Given the description of an element on the screen output the (x, y) to click on. 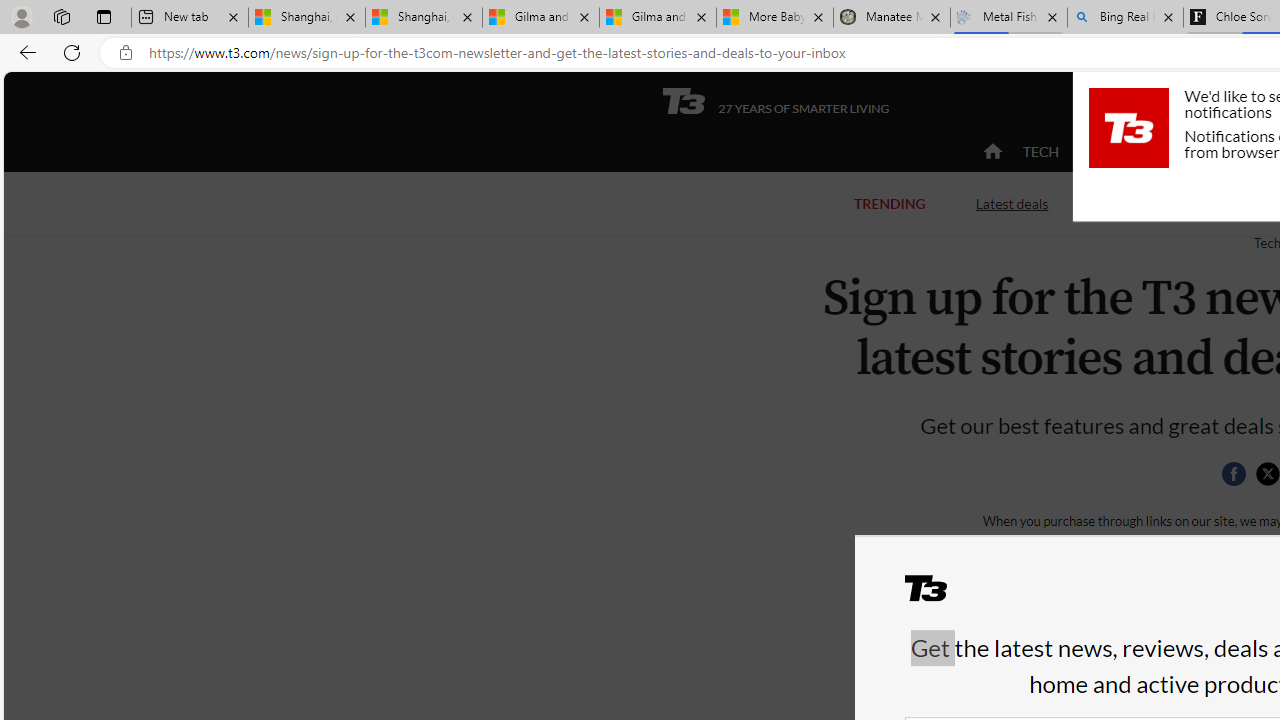
HOME LIVING (1233, 151)
